Given the description of an element on the screen output the (x, y) to click on. 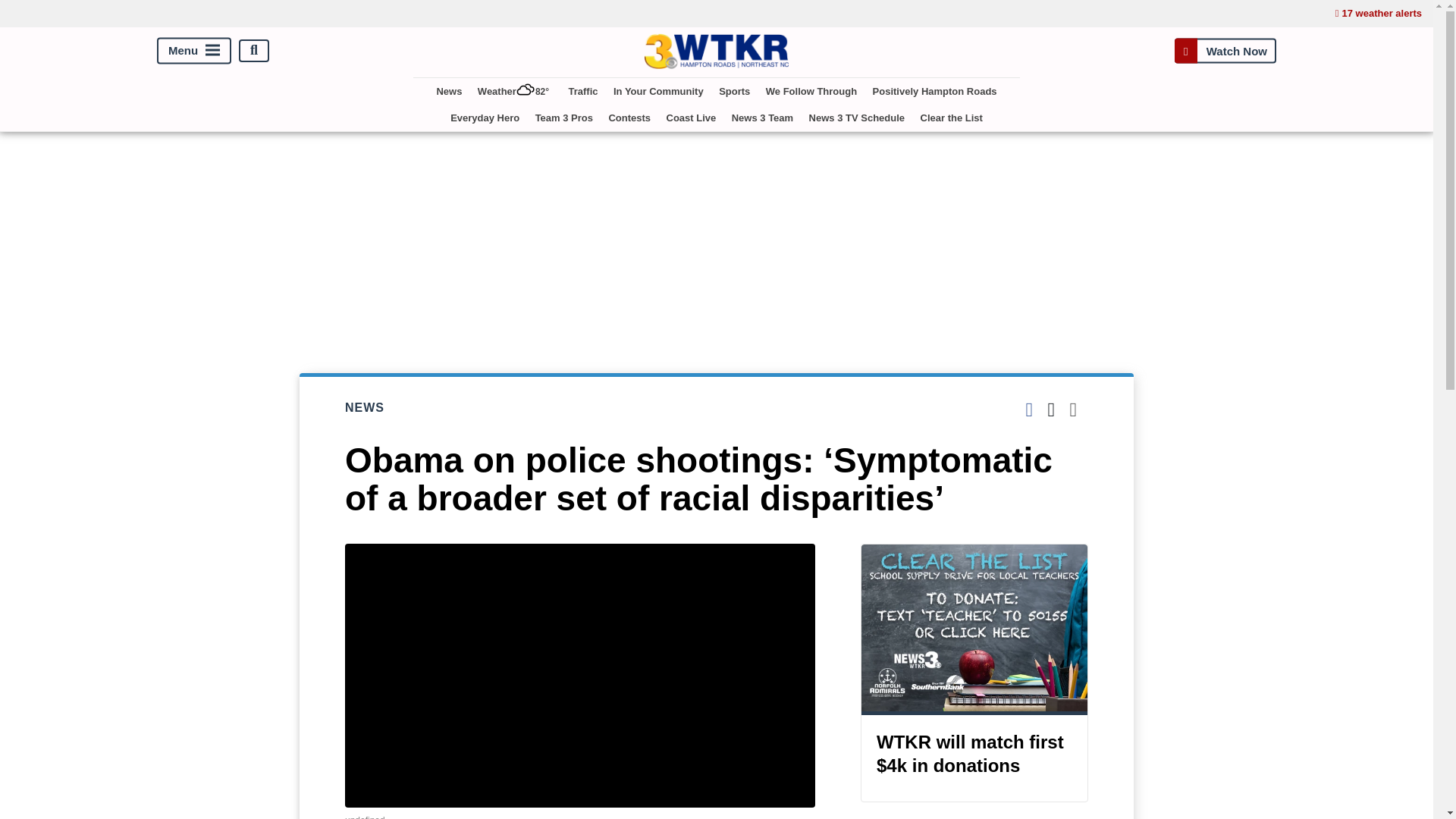
Watch Now (1224, 50)
Menu (194, 49)
